Given the description of an element on the screen output the (x, y) to click on. 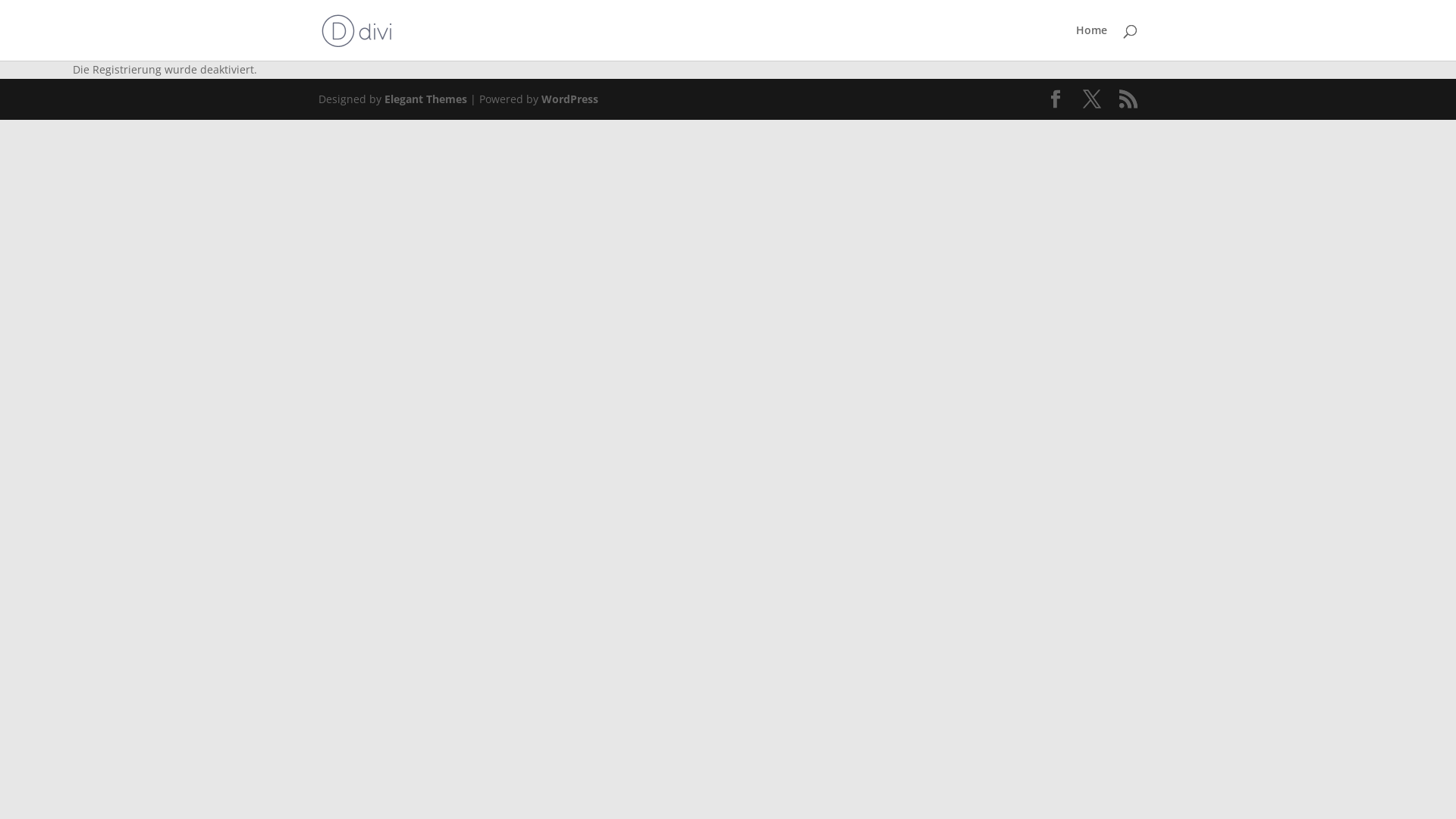
Elegant Themes Element type: text (425, 98)
Home Element type: text (1091, 42)
WordPress Element type: text (569, 98)
